Given the description of an element on the screen output the (x, y) to click on. 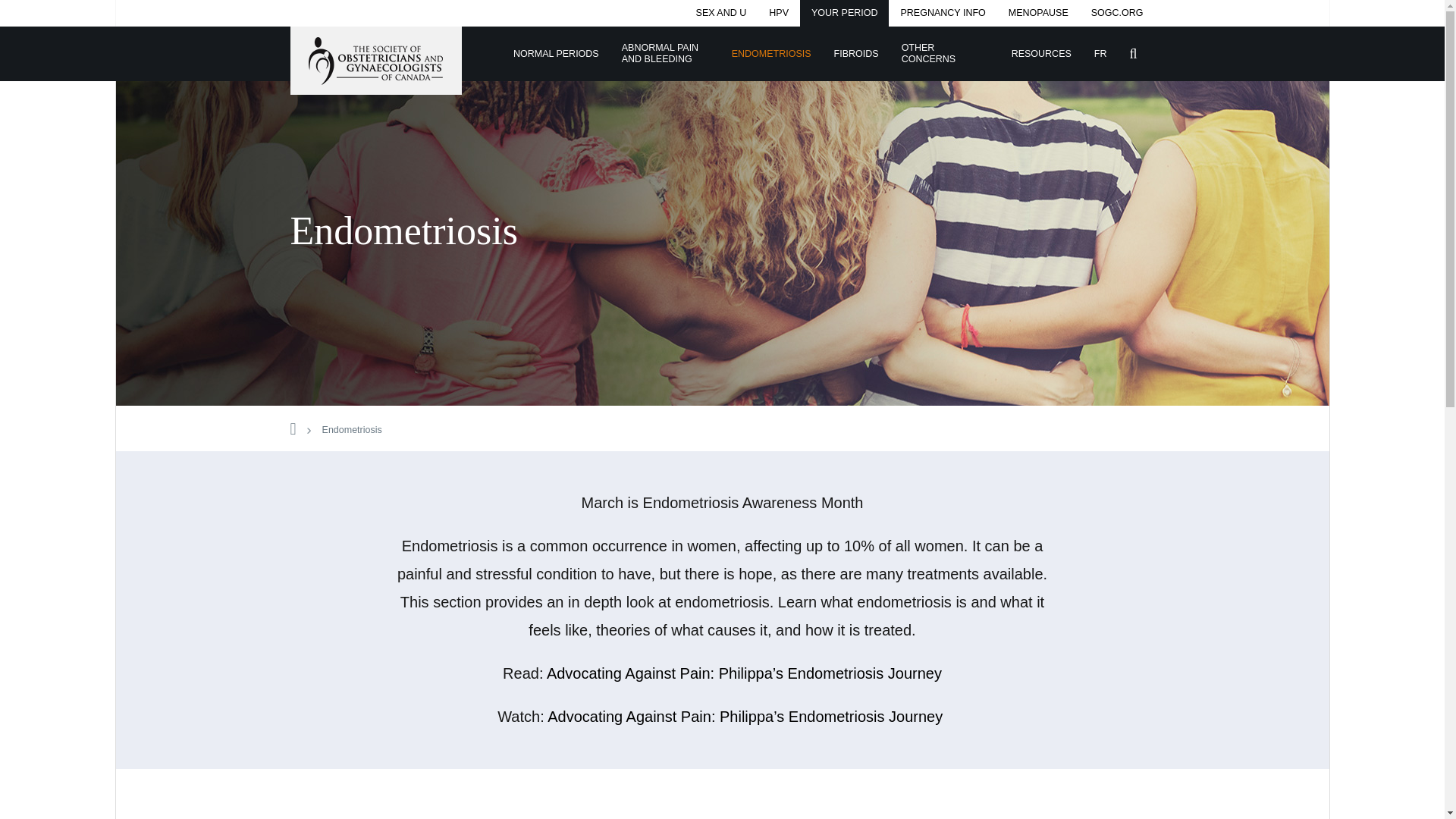
Endometriosis (351, 429)
Home (292, 429)
